Given the description of an element on the screen output the (x, y) to click on. 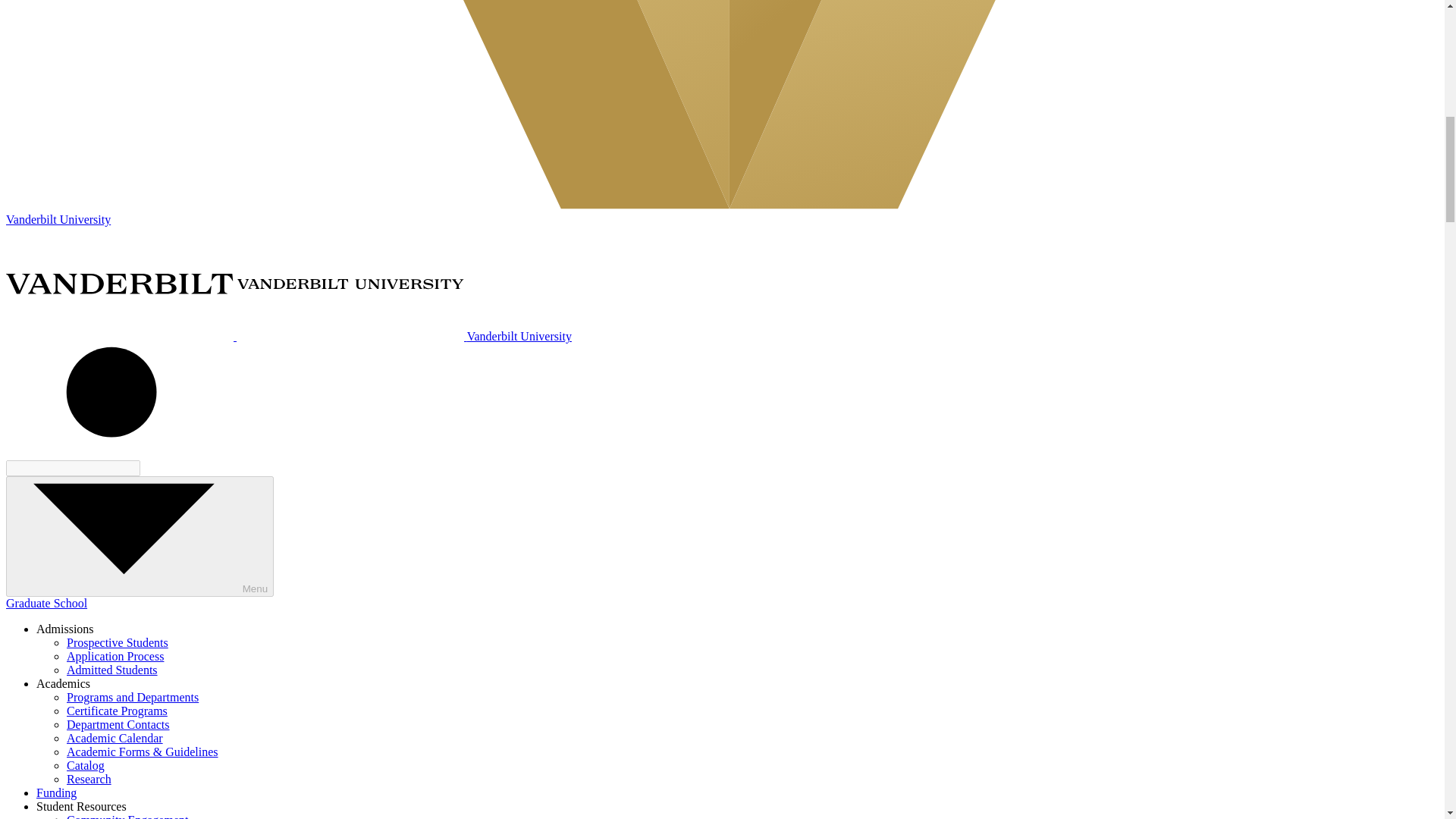
Student Resources (81, 806)
Programs and Departments (132, 697)
Vanderbilt University (288, 336)
Department Contacts (118, 724)
Research (89, 779)
Menu (139, 536)
Certificate Programs (116, 710)
Academic Calendar (114, 738)
Catalog (85, 765)
Admissions (65, 628)
Graduate School (46, 603)
Funding (56, 792)
Application Process (114, 656)
Prospective Students (117, 642)
Admitted Students (111, 669)
